Given the description of an element on the screen output the (x, y) to click on. 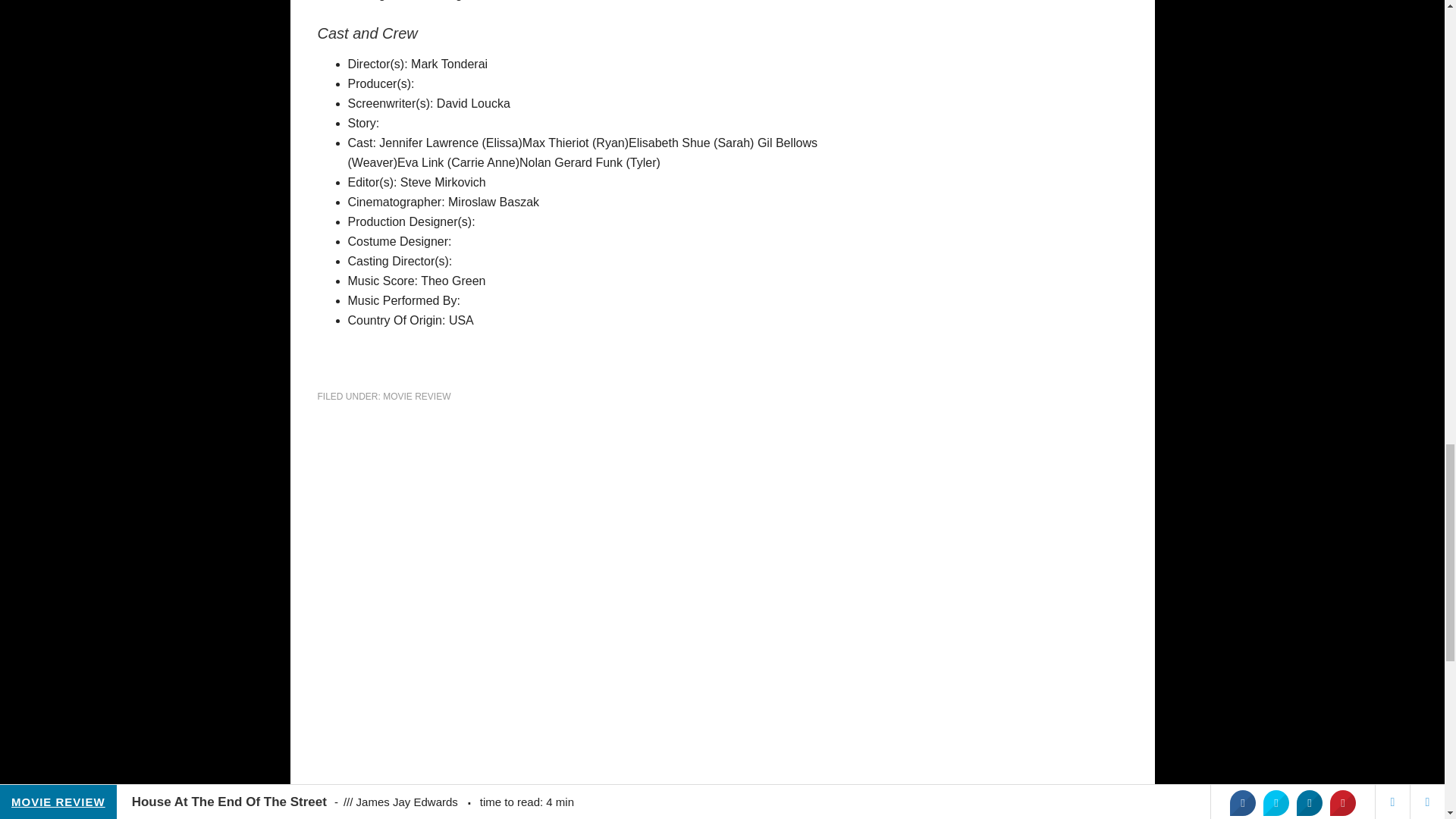
MOVIE REVIEW (415, 396)
